Given the description of an element on the screen output the (x, y) to click on. 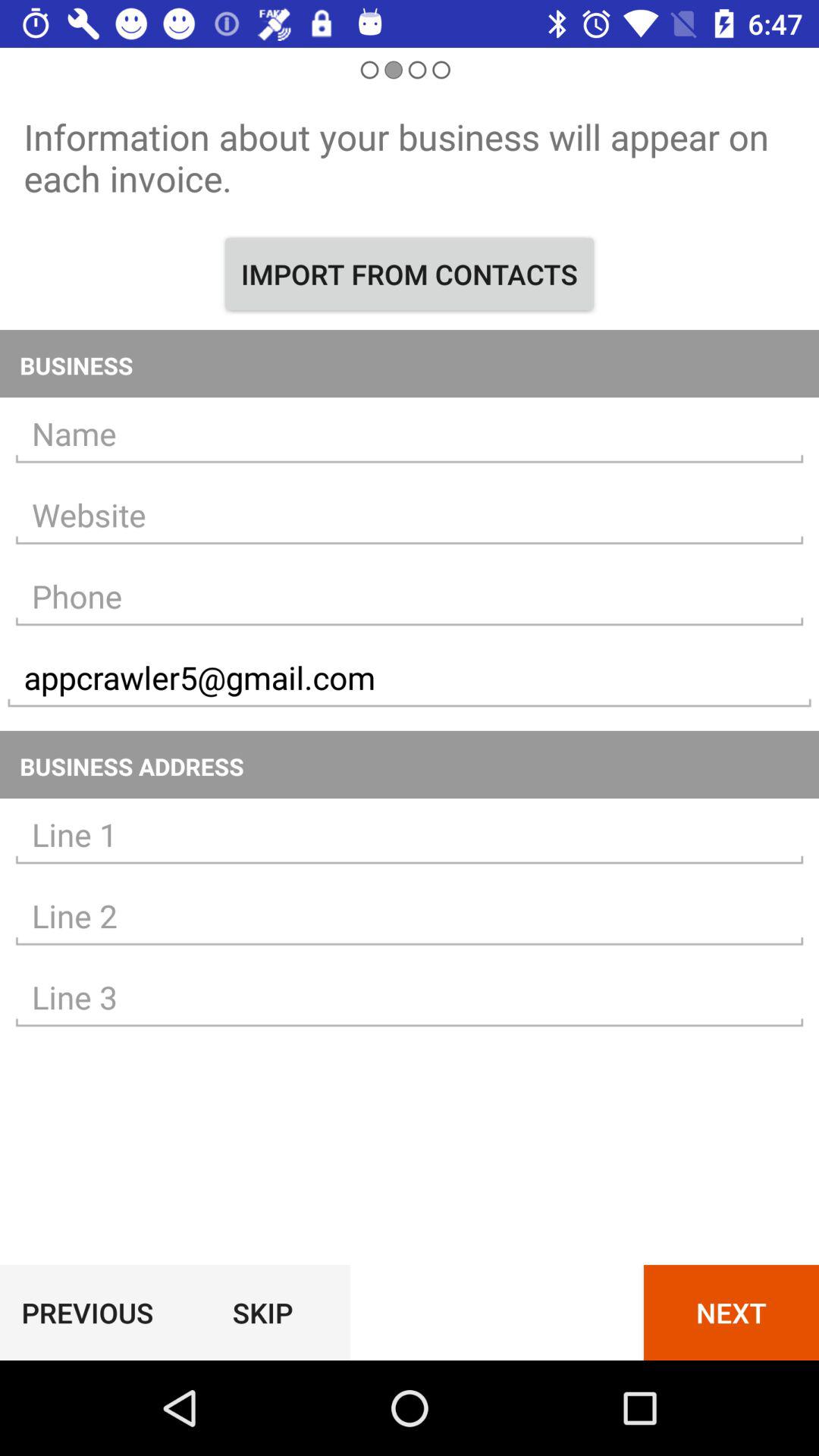
business address line 1 (409, 834)
